Given the description of an element on the screen output the (x, y) to click on. 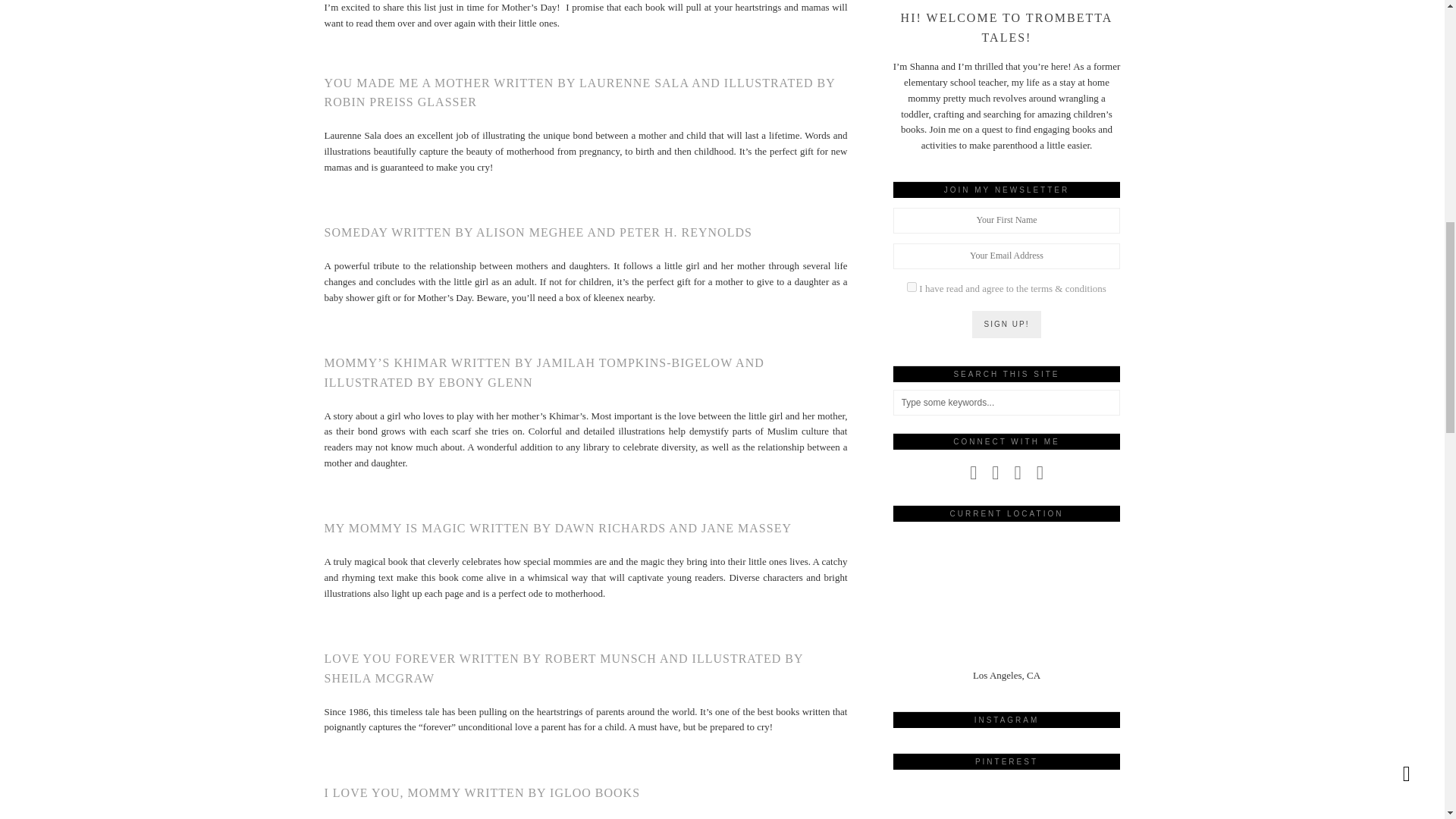
Sign up! (1007, 324)
I LOVE YOU, MOMMY WRITTEN BY IGLOO BOOKS (482, 792)
SOMEDAY WRITTEN BY ALISON MEGHEE AND PETER H. REYNOLDS (538, 232)
MY MOMMY IS MAGIC WRITTEN BY DAWN RICHARDS AND JANE MASSEY (558, 527)
1 (912, 286)
